Given the description of an element on the screen output the (x, y) to click on. 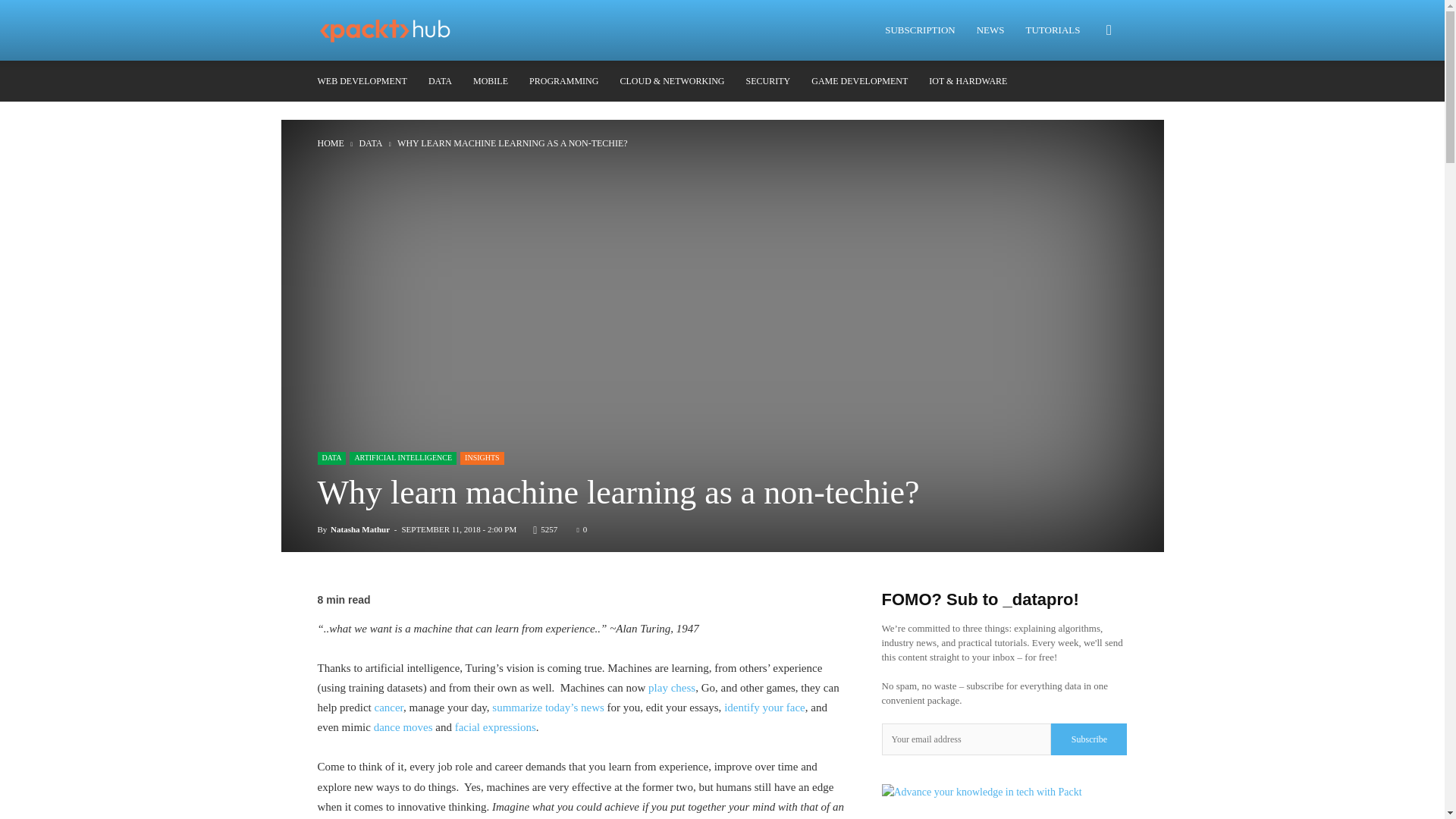
Packt Hub (385, 30)
Packt Hub (393, 30)
TUTORIALS (1052, 30)
SUBSCRIPTION (920, 30)
